Given the description of an element on the screen output the (x, y) to click on. 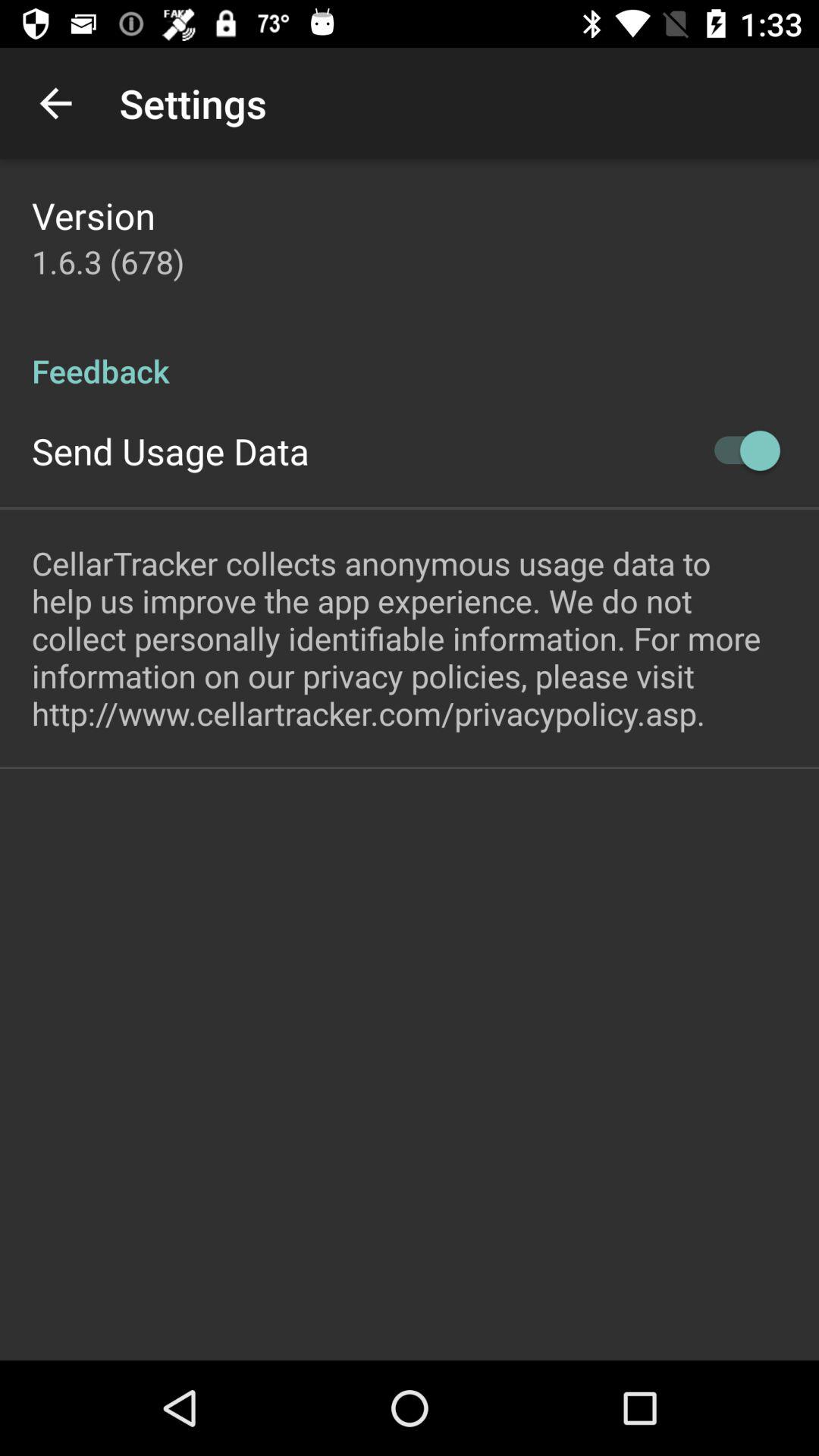
click icon above the feedback item (107, 261)
